Given the description of an element on the screen output the (x, y) to click on. 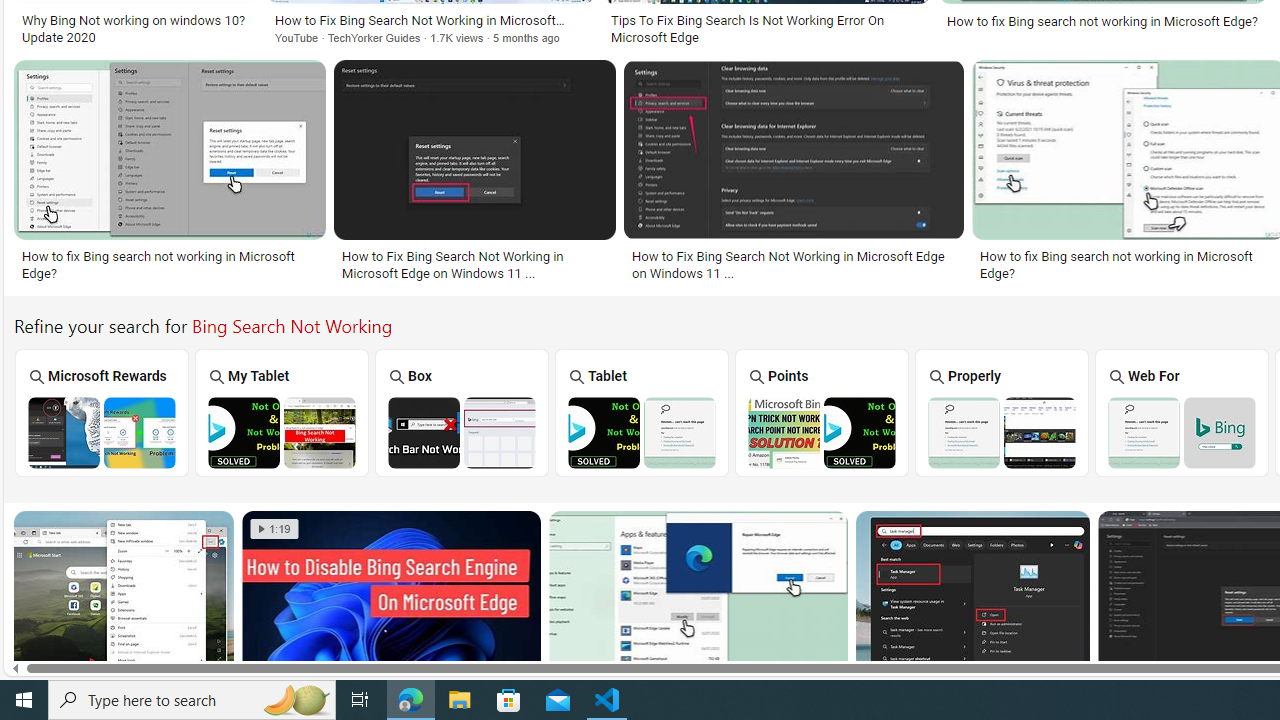
Microsoft Rewards (101, 412)
Properly (1002, 412)
Microsoft Rewards Bing Search Not Working Microsoft Rewards (101, 412)
Bing Search Not Working Properly Properly (1002, 412)
Why Bing Not working on windows 10? Update 2020 (135, 29)
Bing Search Box Not Working Box (461, 412)
How to fix Bing search not working in Microsoft Edge? (1128, 264)
Bing Search Not Working On My Tablet (281, 432)
Bing Search Not Working Properly (1002, 432)
Image result for Bing Search Not Working (973, 600)
1:19 (274, 528)
